Given the description of an element on the screen output the (x, y) to click on. 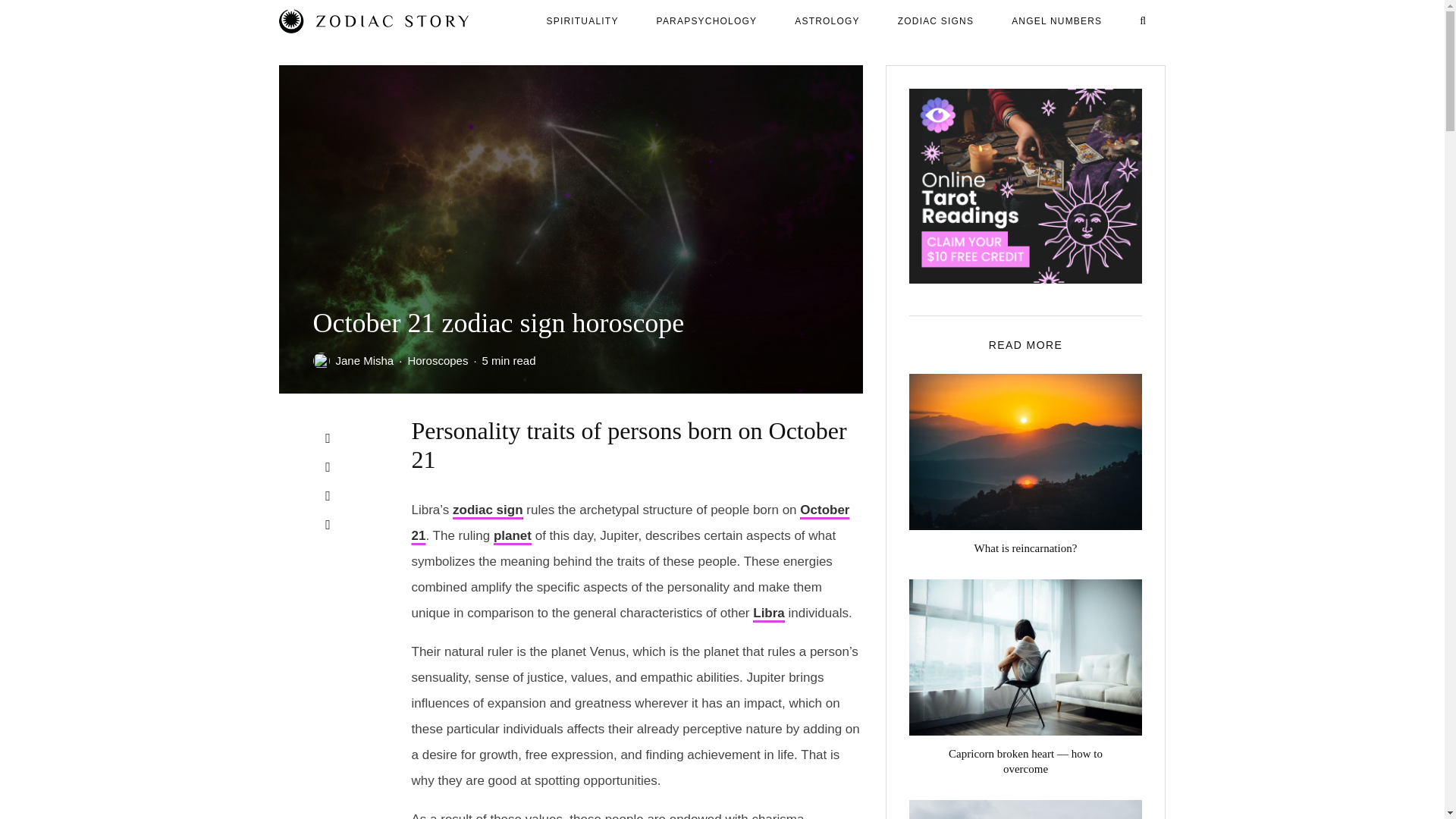
ASTROLOGY (826, 21)
ZODIAC SIGNS (935, 21)
PARAPSYCHOLOGY (706, 21)
SPIRITUALITY (582, 21)
